Given the description of an element on the screen output the (x, y) to click on. 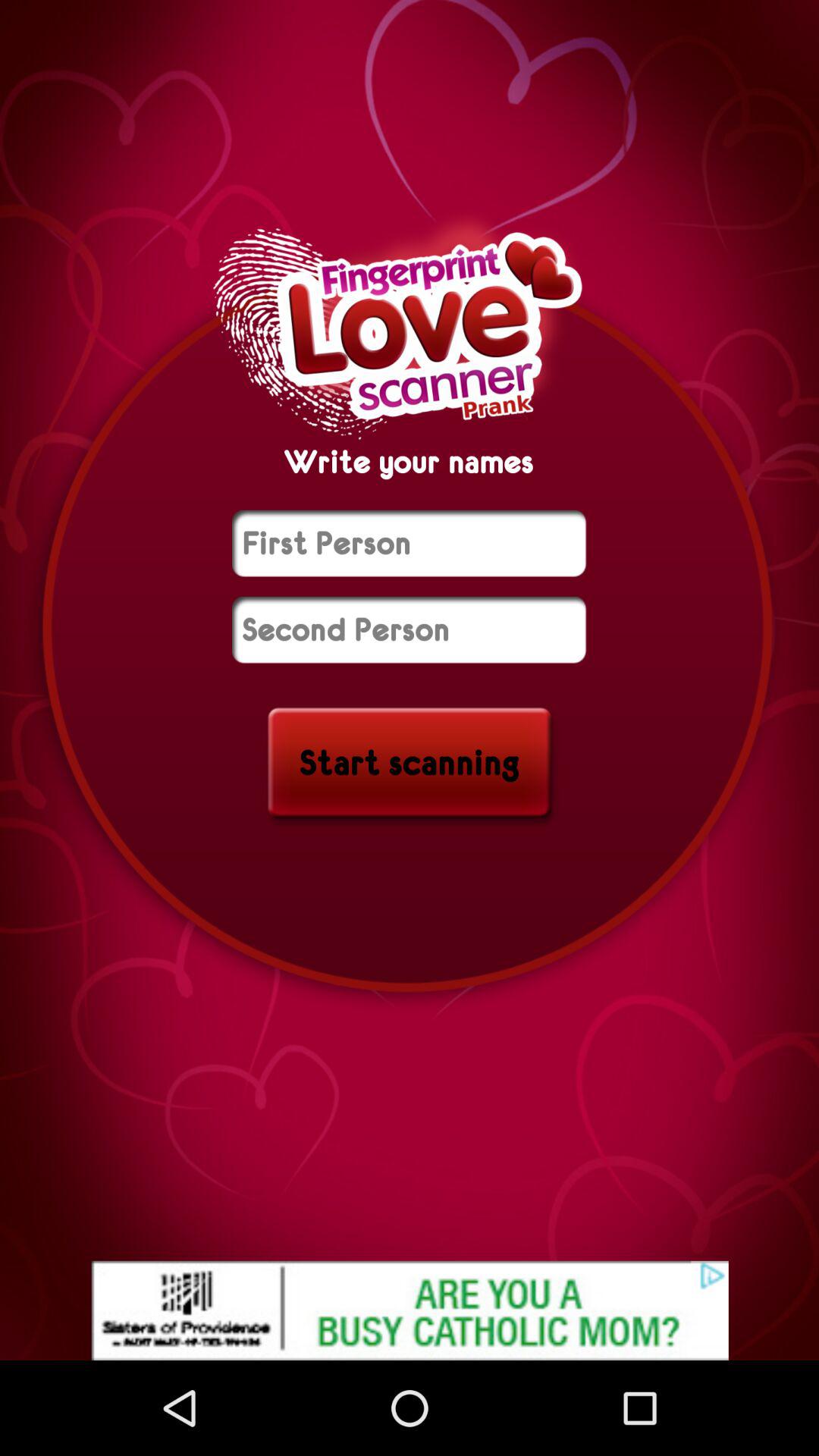
advertisement page (409, 1310)
